Given the description of an element on the screen output the (x, y) to click on. 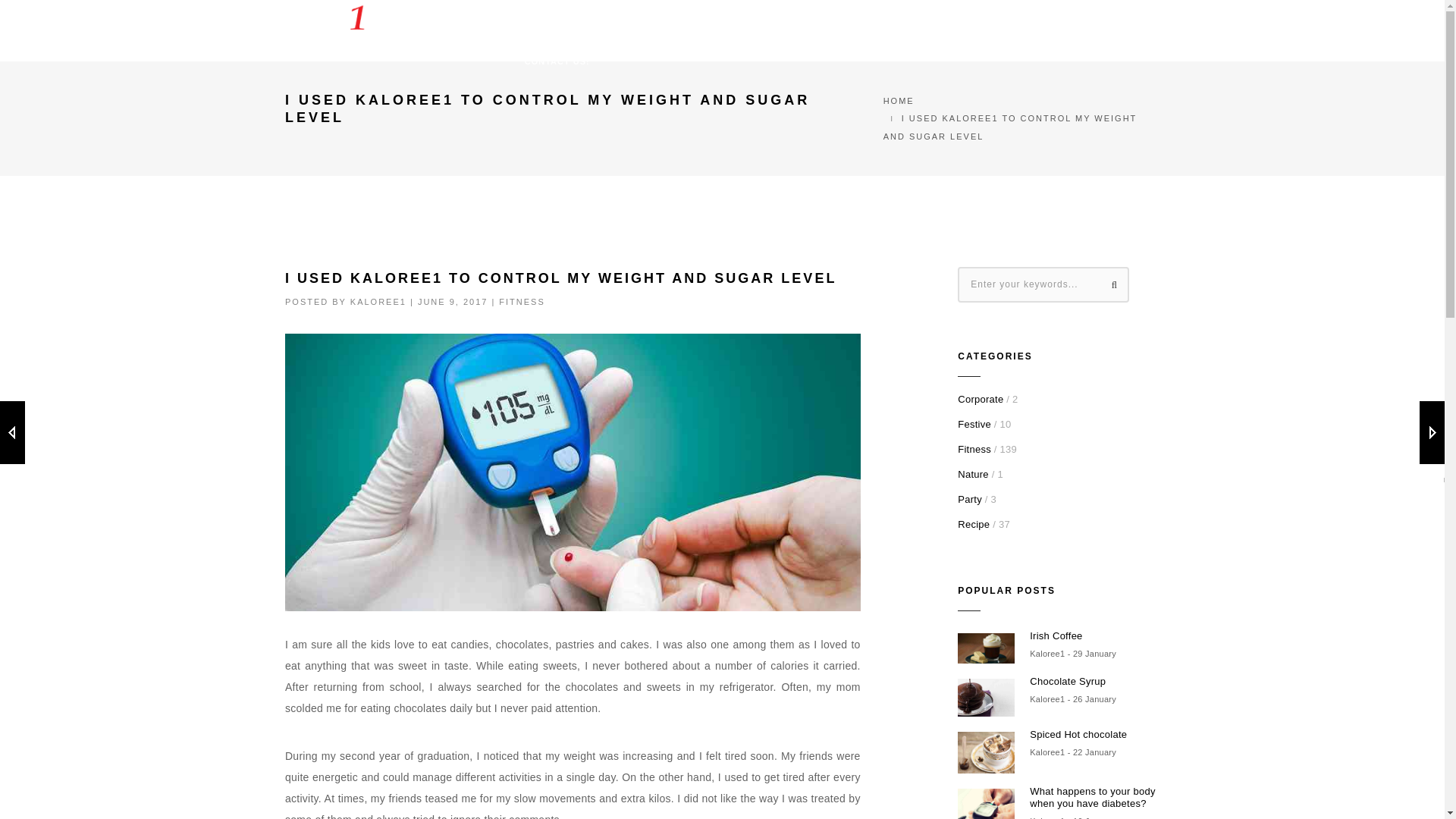
Nature (973, 473)
KALOREE1 (378, 301)
HOME (898, 100)
HOME (538, 20)
Recipe (974, 523)
BLOG (1075, 20)
FAQS (921, 20)
Fitness (974, 449)
Festive (974, 423)
Browse to: Home (898, 100)
ABOUT US (607, 20)
CONTACT US! (556, 62)
Irish Coffee (1093, 635)
HEALTH GUIDE (697, 20)
Corporate (980, 398)
